Given the description of an element on the screen output the (x, y) to click on. 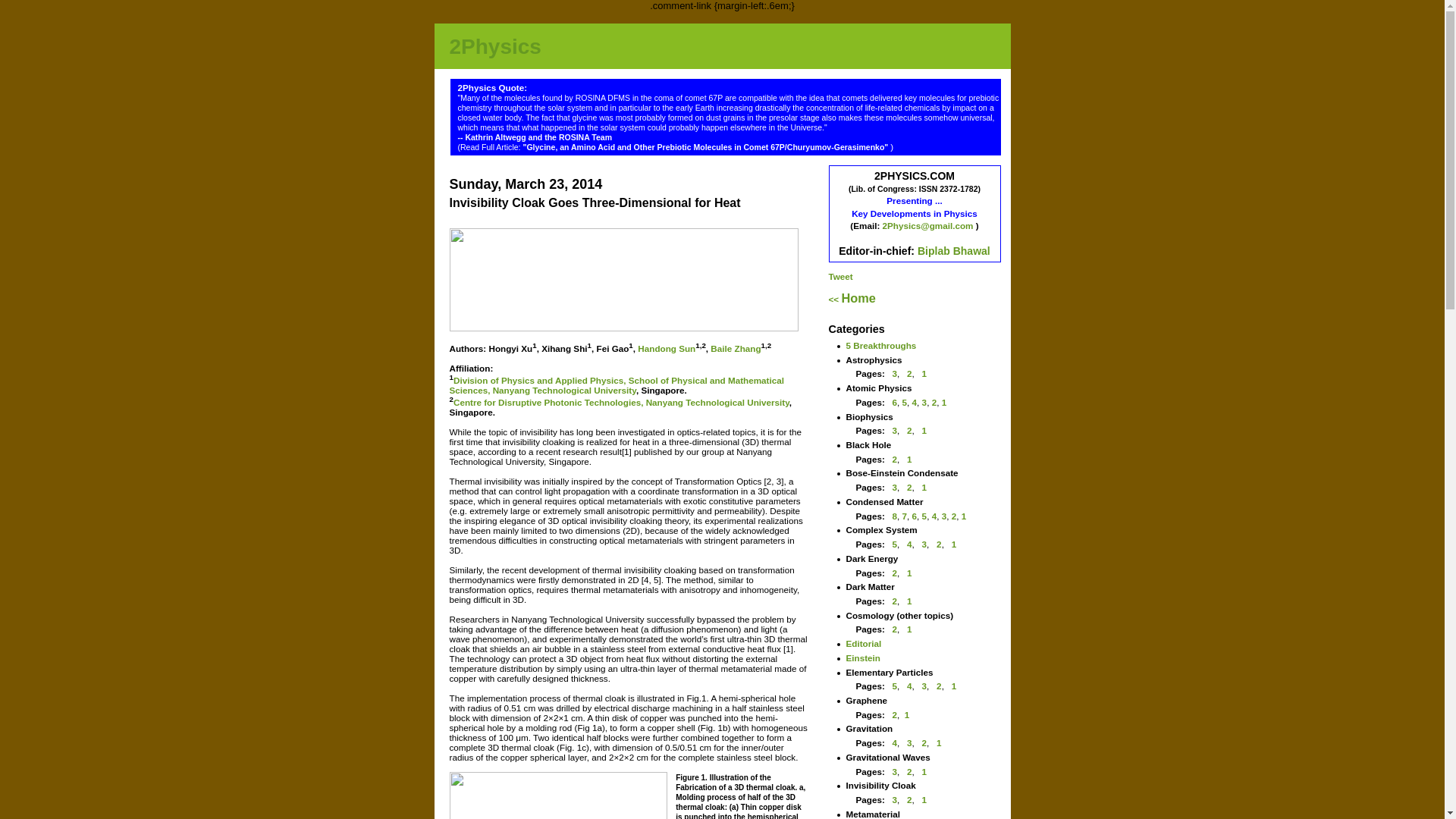
6 Element type: text (894, 402)
1 Element type: text (909, 459)
2Physics Element type: text (494, 46)
2 Element type: text (924, 742)
2 Element type: text (909, 487)
4 Element type: text (934, 515)
3 Element type: text (909, 742)
1 Element type: text (924, 771)
3 Element type: text (944, 515)
5 Element type: text (894, 544)
1 Element type: text (944, 402)
Handong Sun Element type: text (666, 348)
2 Element type: text (938, 544)
Biplab Bhawal Element type: text (953, 250)
2 Element type: text (938, 685)
5 Element type: text (904, 402)
Tweet Element type: text (840, 276)
3 Element type: text (894, 799)
<< Home Element type: text (851, 299)
3 Element type: text (924, 544)
Baile Zhang Element type: text (735, 348)
1 Element type: text (954, 544)
1 Element type: text (938, 742)
2 Element type: text (909, 799)
2 Element type: text (909, 771)
1 Element type: text (924, 373)
2 Element type: text (894, 628)
4 Element type: text (909, 685)
2 Element type: text (894, 714)
1 Element type: text (909, 628)
5 Element type: text (894, 685)
3 Element type: text (894, 430)
3 Element type: text (894, 373)
2Physics@gmail.com Element type: text (928, 225)
2 Element type: text (894, 572)
2 Element type: text (954, 515)
1 Element type: text (907, 714)
3 Element type: text (924, 685)
3 Element type: text (924, 402)
4 Element type: text (909, 544)
6 Element type: text (914, 515)
5 Breakthroughs Element type: text (881, 345)
1 Element type: text (924, 799)
1 Element type: text (924, 487)
7 Element type: text (904, 515)
2 Element type: text (909, 430)
Einstein Element type: text (863, 657)
1 Element type: text (954, 685)
1 Element type: text (909, 600)
Editorial Element type: text (863, 643)
1 Element type: text (909, 572)
2 Element type: text (894, 600)
3 Element type: text (894, 771)
1 Element type: text (924, 430)
2 Element type: text (934, 402)
4 Element type: text (914, 402)
3 Element type: text (894, 487)
5 Element type: text (924, 515)
2 Element type: text (894, 459)
1 Element type: text (963, 515)
2 Element type: text (909, 373)
4 Element type: text (894, 742)
8 Element type: text (894, 515)
